Given the description of an element on the screen output the (x, y) to click on. 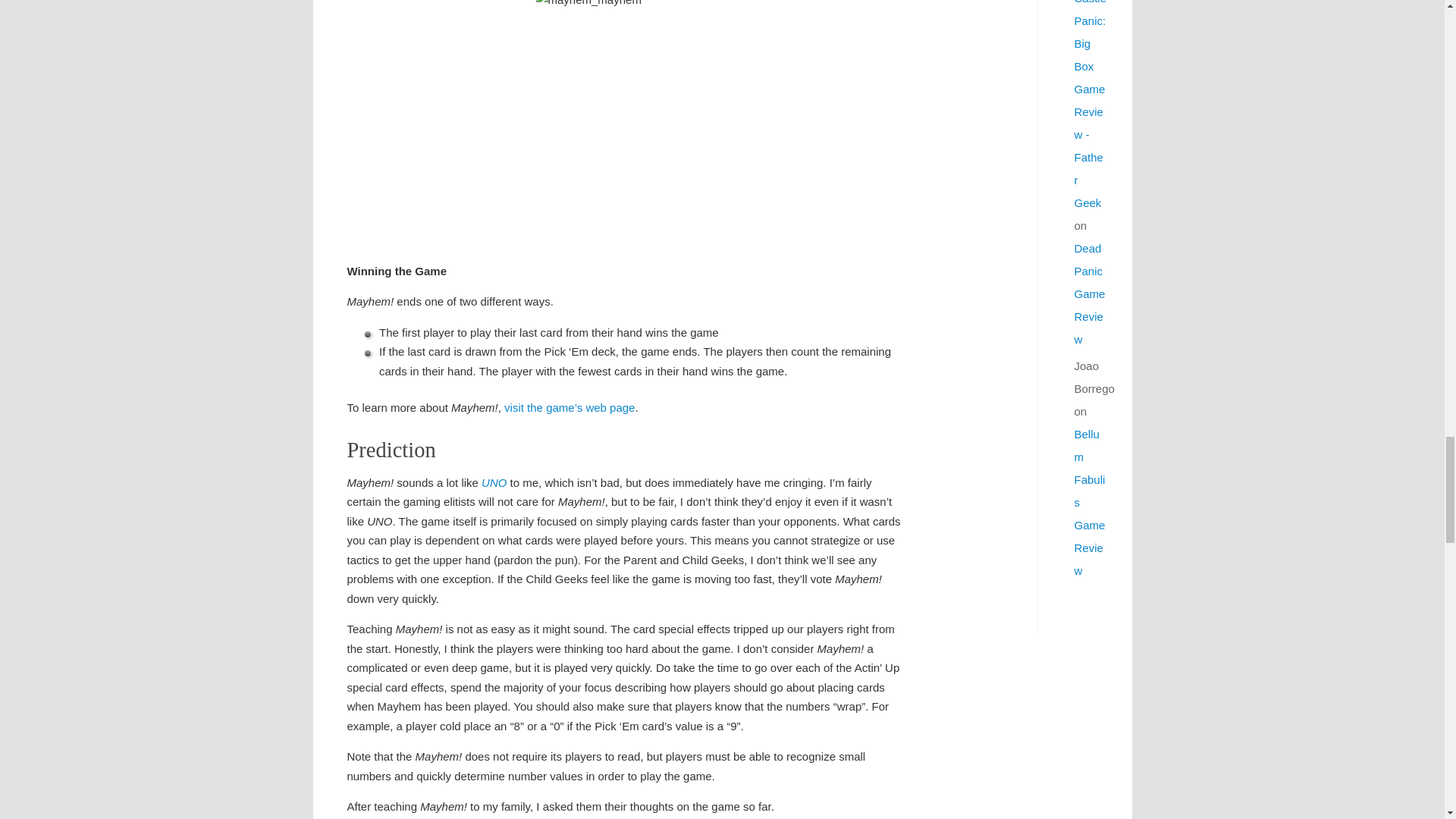
UNO (493, 481)
